Given the description of an element on the screen output the (x, y) to click on. 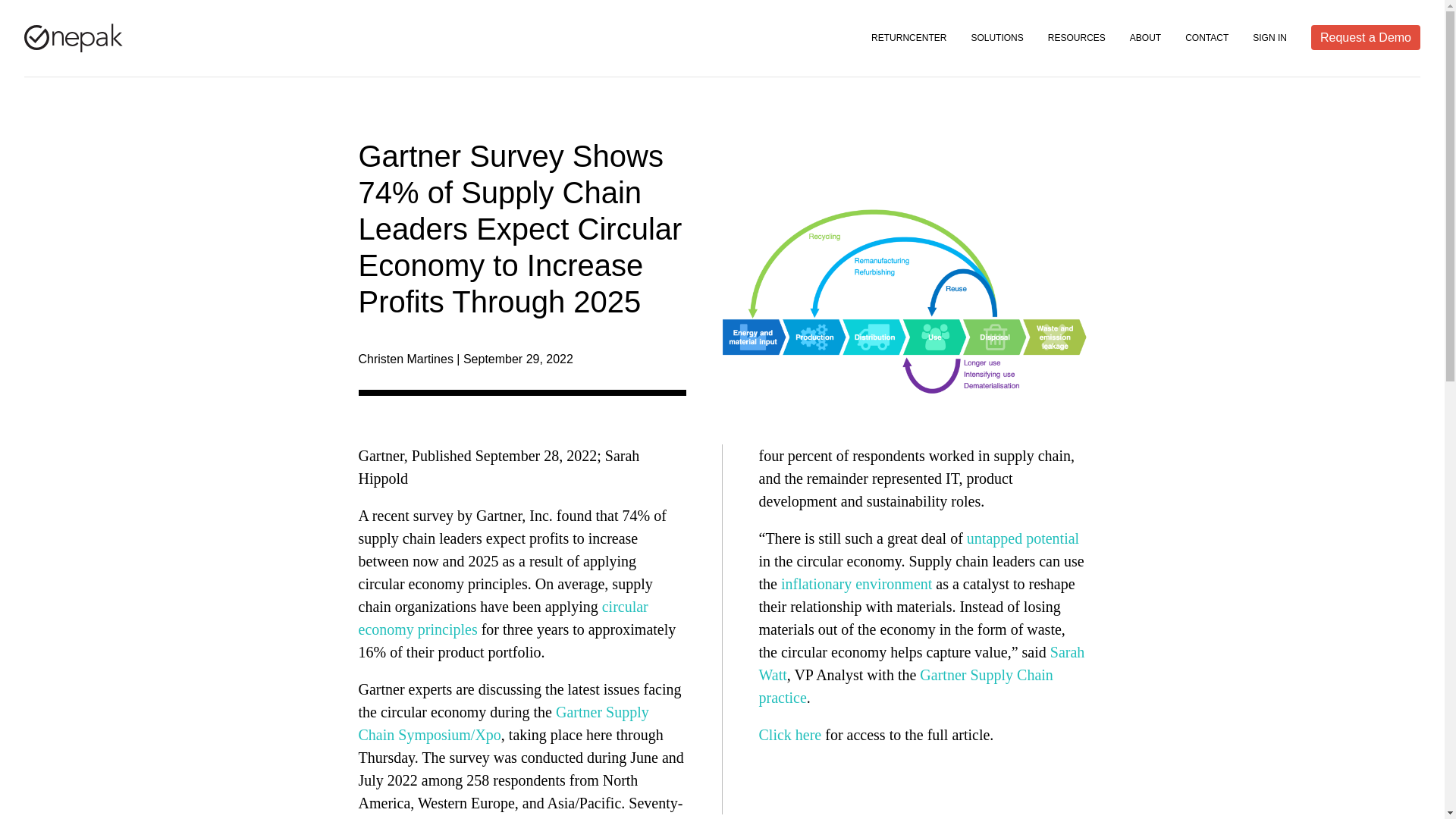
RESOURCES (1076, 38)
Gartner Supply Chain practice (905, 685)
Sarah Watt (921, 663)
untapped potential (1022, 538)
Click here (789, 734)
SOLUTIONS (996, 38)
RETURNCENTER (908, 38)
circular economy principles (502, 618)
CONTACT (1206, 38)
inflationary environment (855, 583)
